Given the description of an element on the screen output the (x, y) to click on. 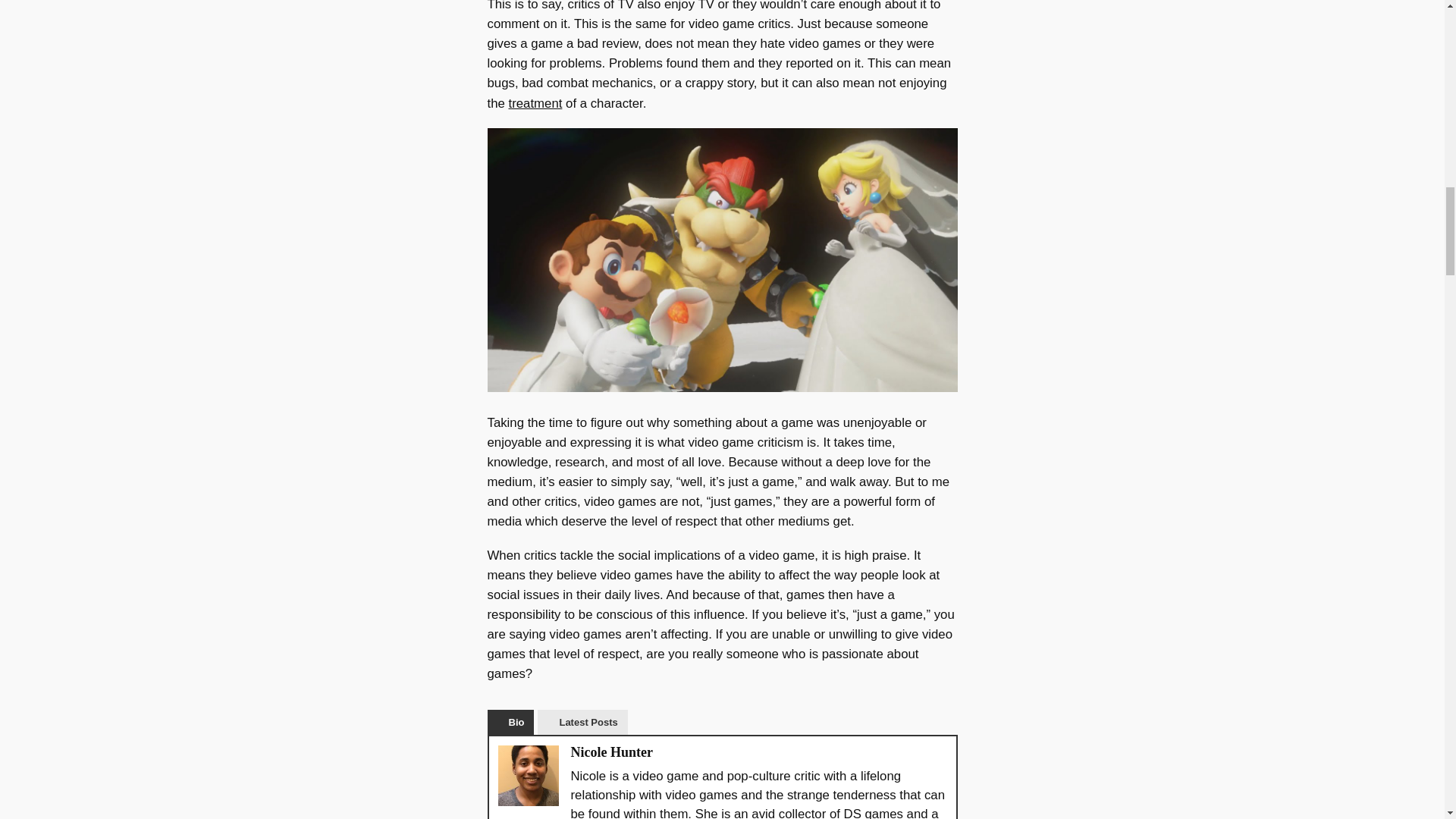
Nicole Hunter (611, 752)
treatment (535, 102)
Bio (510, 722)
Latest Posts (582, 722)
